Given the description of an element on the screen output the (x, y) to click on. 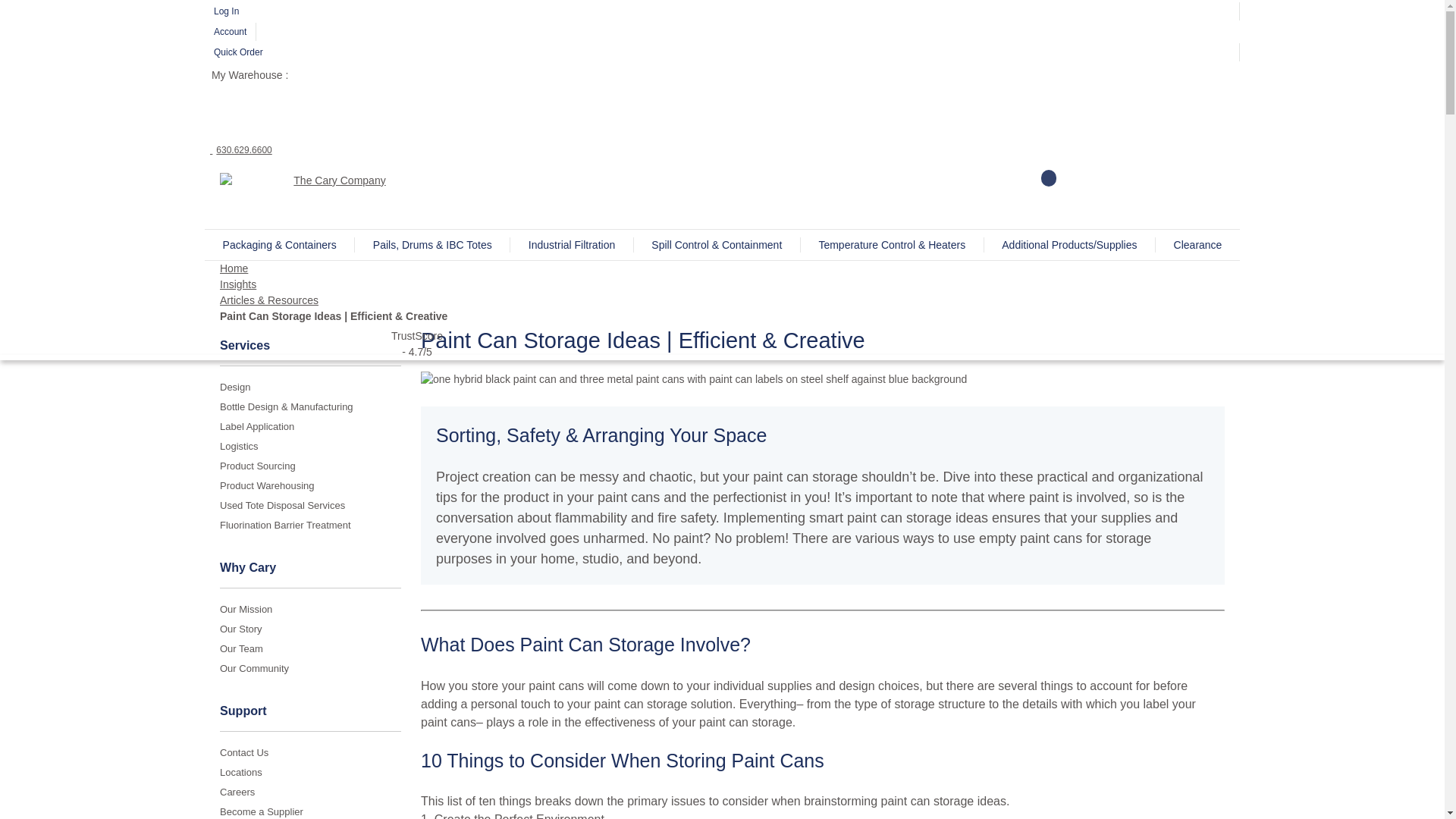
Quick Order (722, 52)
Insights (237, 284)
The Cary Company (332, 180)
Home (233, 268)
 630.629.6600 (240, 149)
The Cary Company (332, 188)
Log In (722, 11)
